Given the description of an element on the screen output the (x, y) to click on. 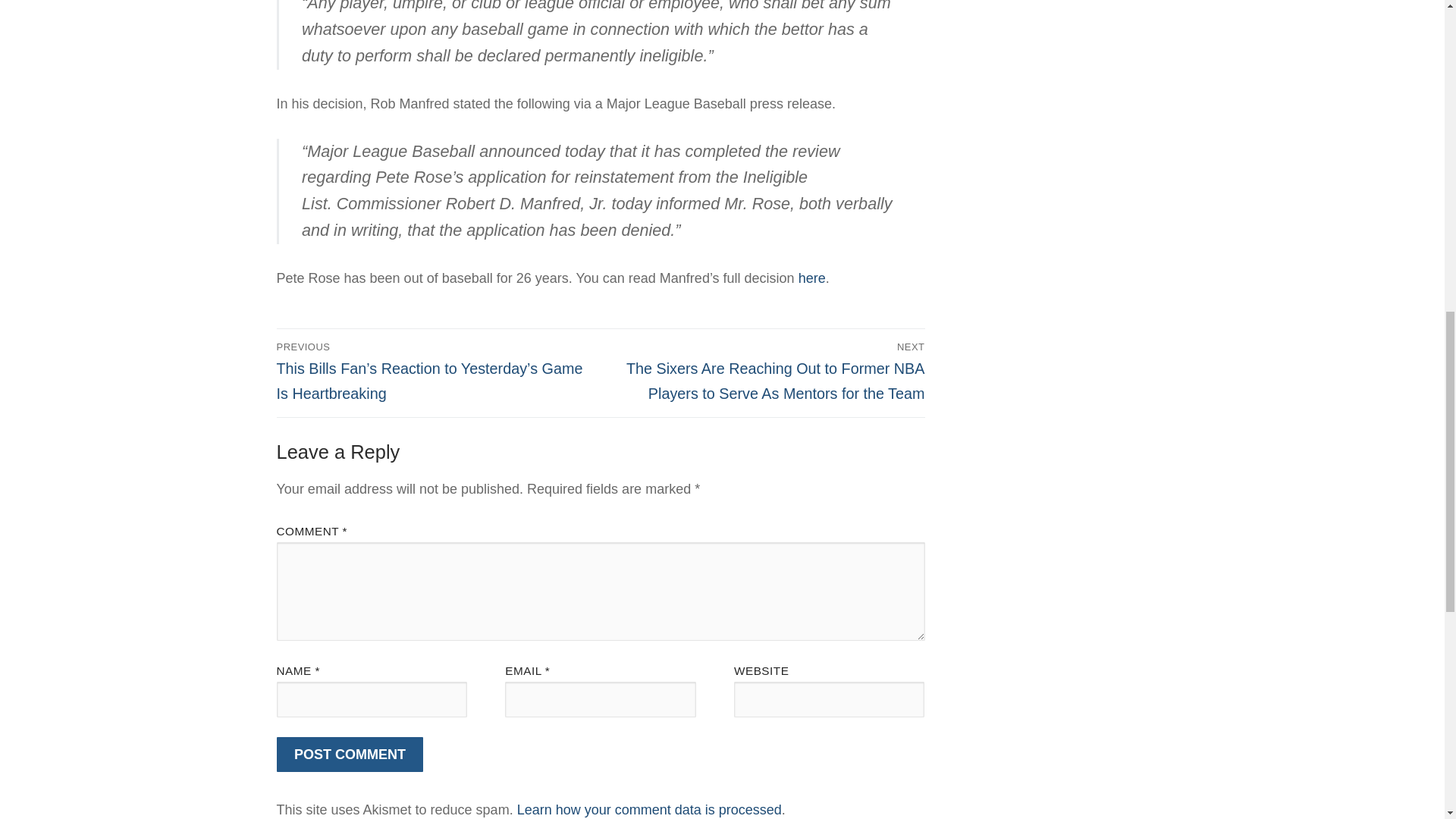
Post Comment (349, 755)
